Given the description of an element on the screen output the (x, y) to click on. 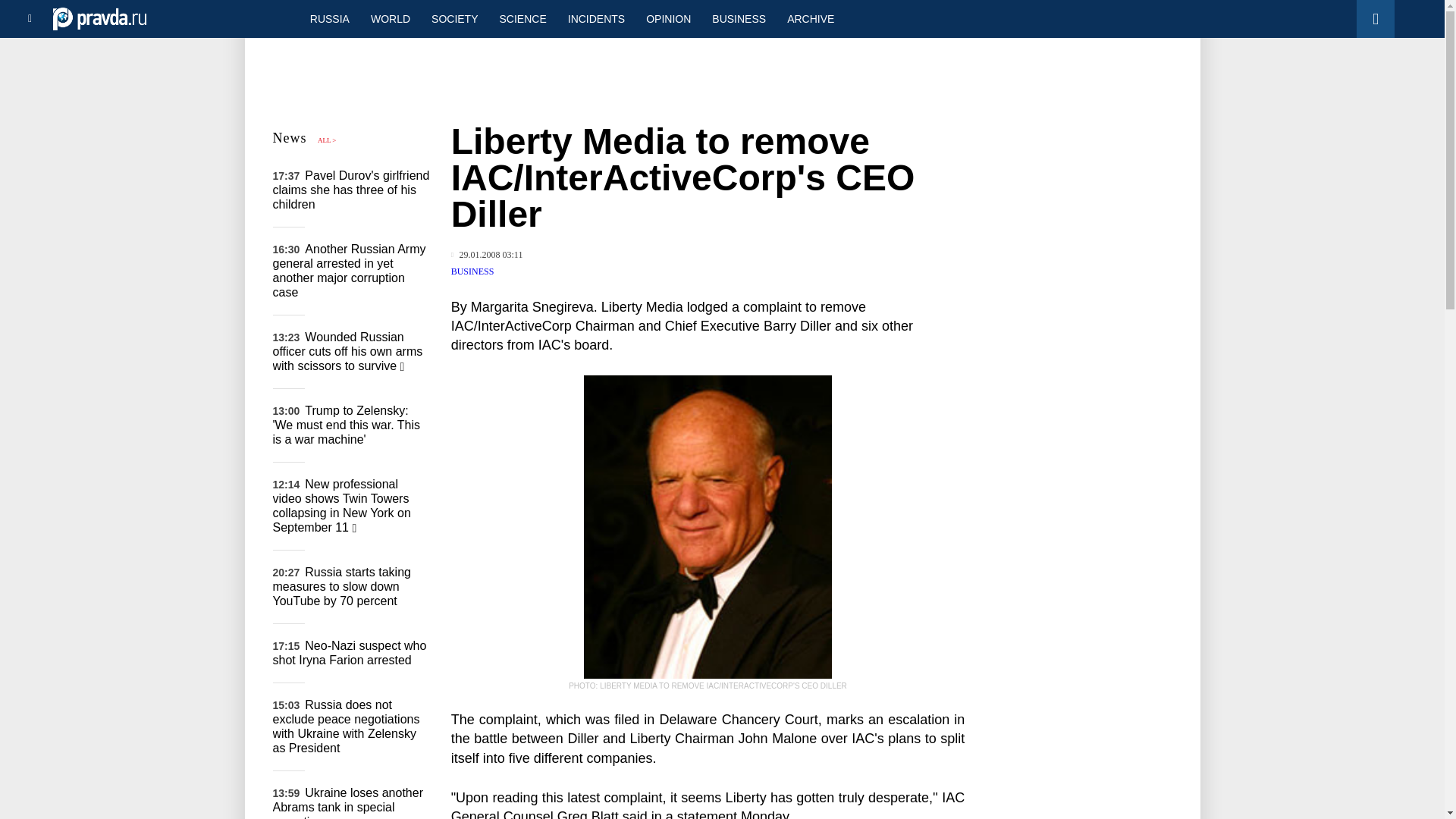
BUSINESS (473, 271)
INCIDENTS (595, 18)
Published (486, 255)
SCIENCE (523, 18)
WORLD (389, 18)
SOCIETY (453, 18)
News (290, 137)
Ukraine loses another Abrams tank in special operation zone (348, 802)
Neo-Nazi suspect who shot Iryna Farion arrested (349, 652)
